Given the description of an element on the screen output the (x, y) to click on. 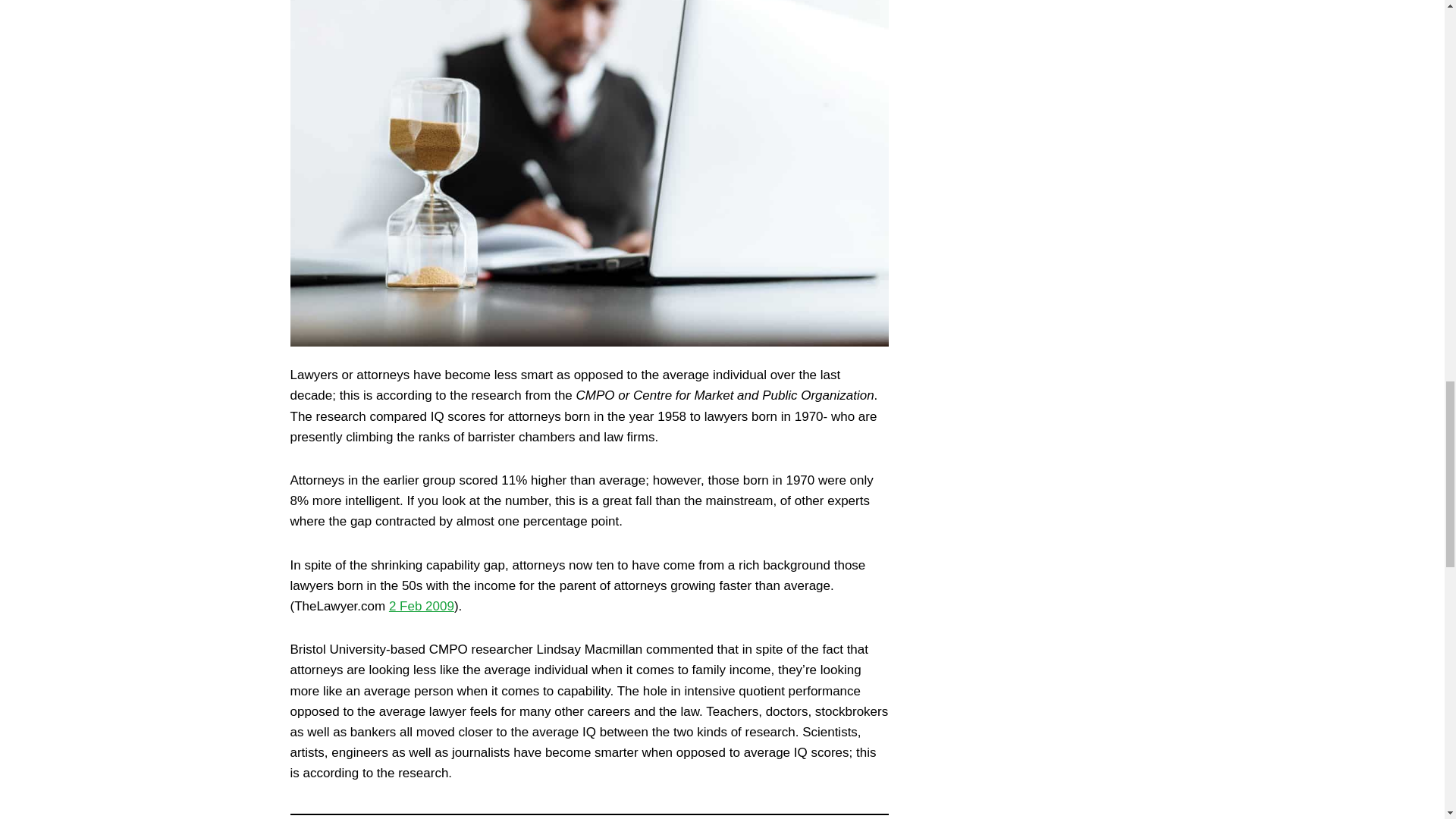
2 Feb 2009 (421, 605)
